Given the description of an element on the screen output the (x, y) to click on. 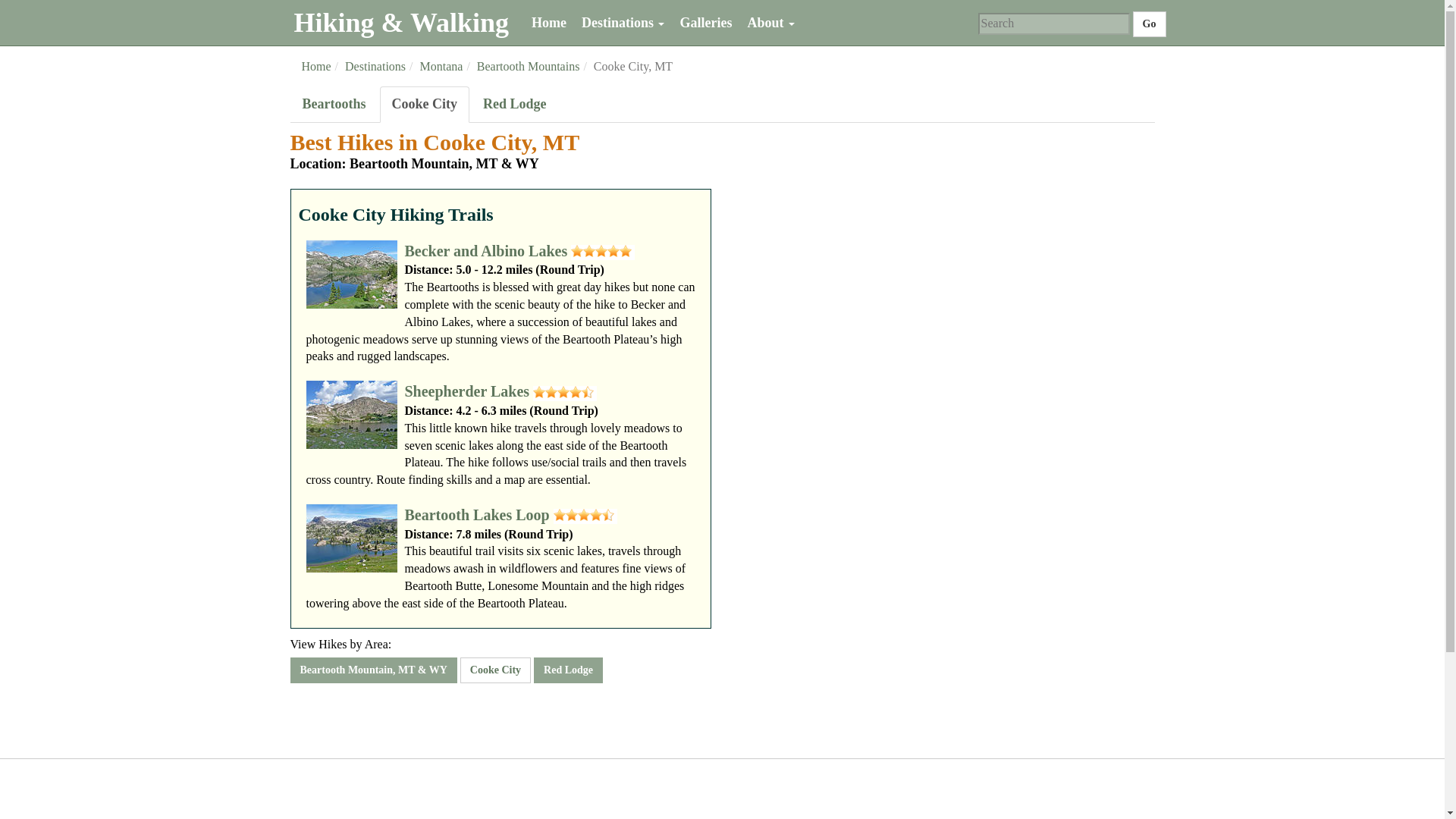
Go (1149, 23)
Home (548, 22)
Go (1149, 23)
Destinations (622, 22)
